Given the description of an element on the screen output the (x, y) to click on. 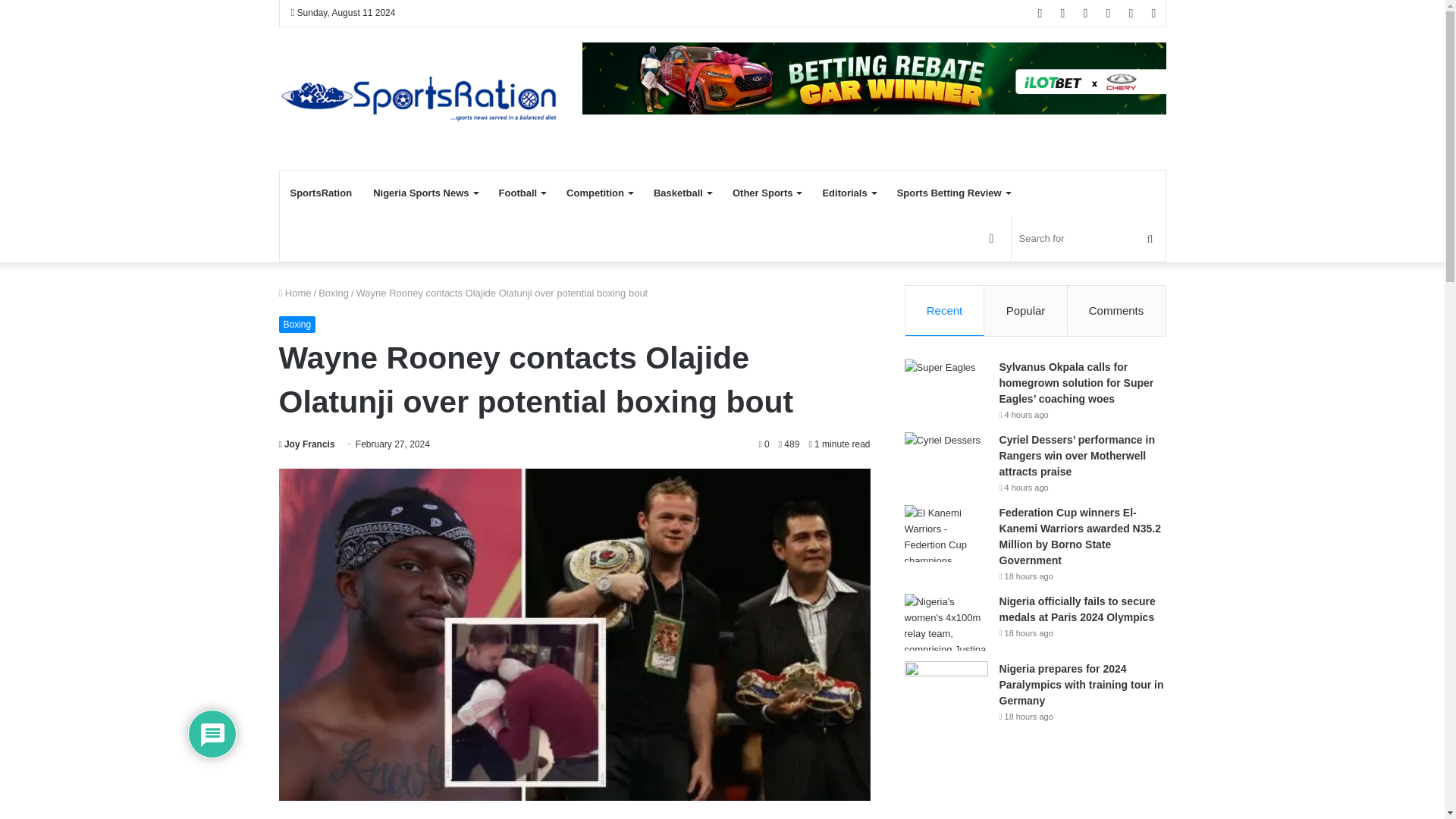
Football (521, 193)
Joy Francis (306, 443)
Nigeria Sports News (424, 193)
Search for (1088, 238)
SportsRation (320, 193)
